Given the description of an element on the screen output the (x, y) to click on. 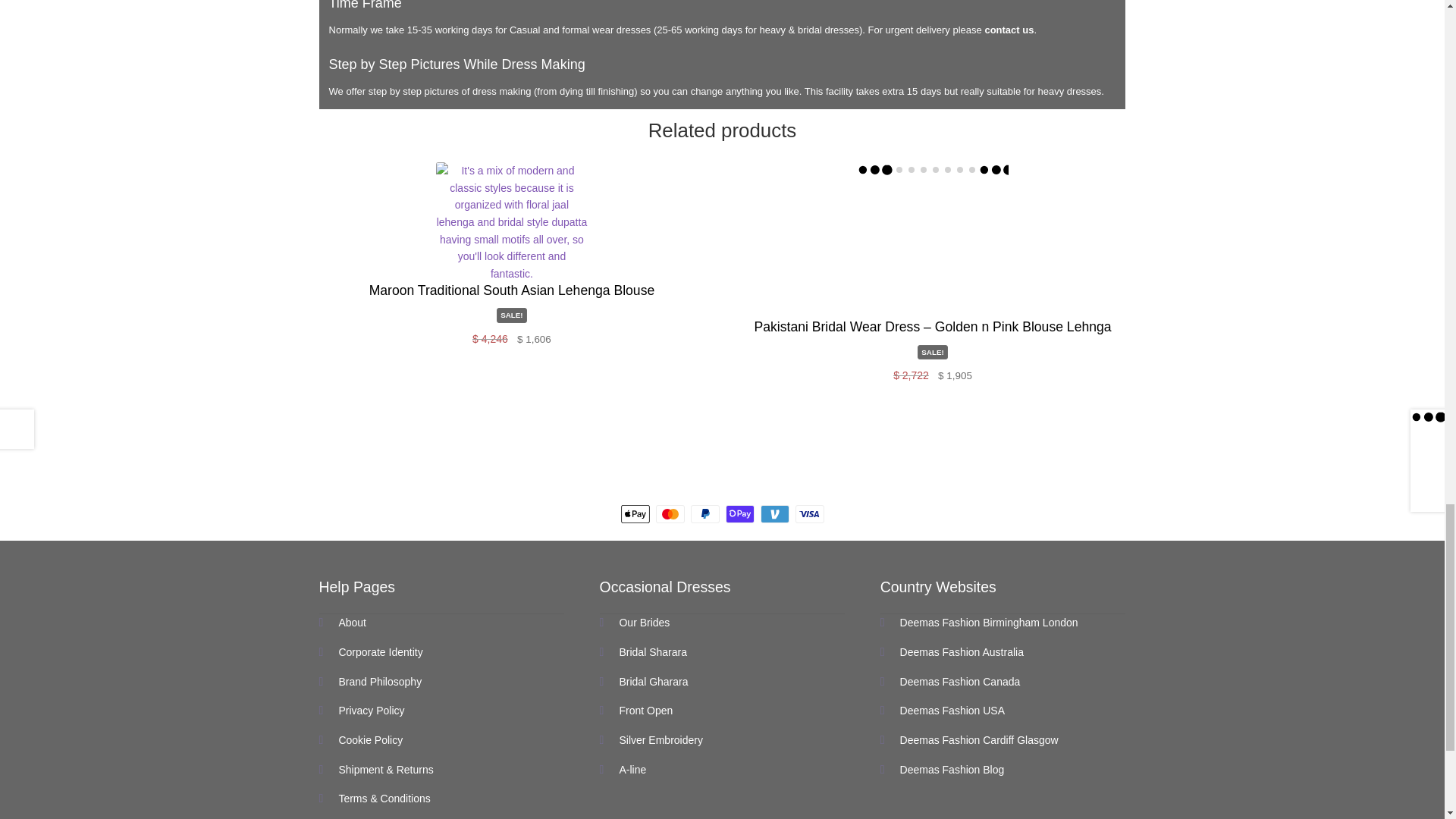
Venmo (774, 514)
Apple Pay (634, 514)
Mastercard (669, 514)
PayPal (704, 514)
Shop Pay (739, 514)
Visa (809, 514)
